Given the description of an element on the screen output the (x, y) to click on. 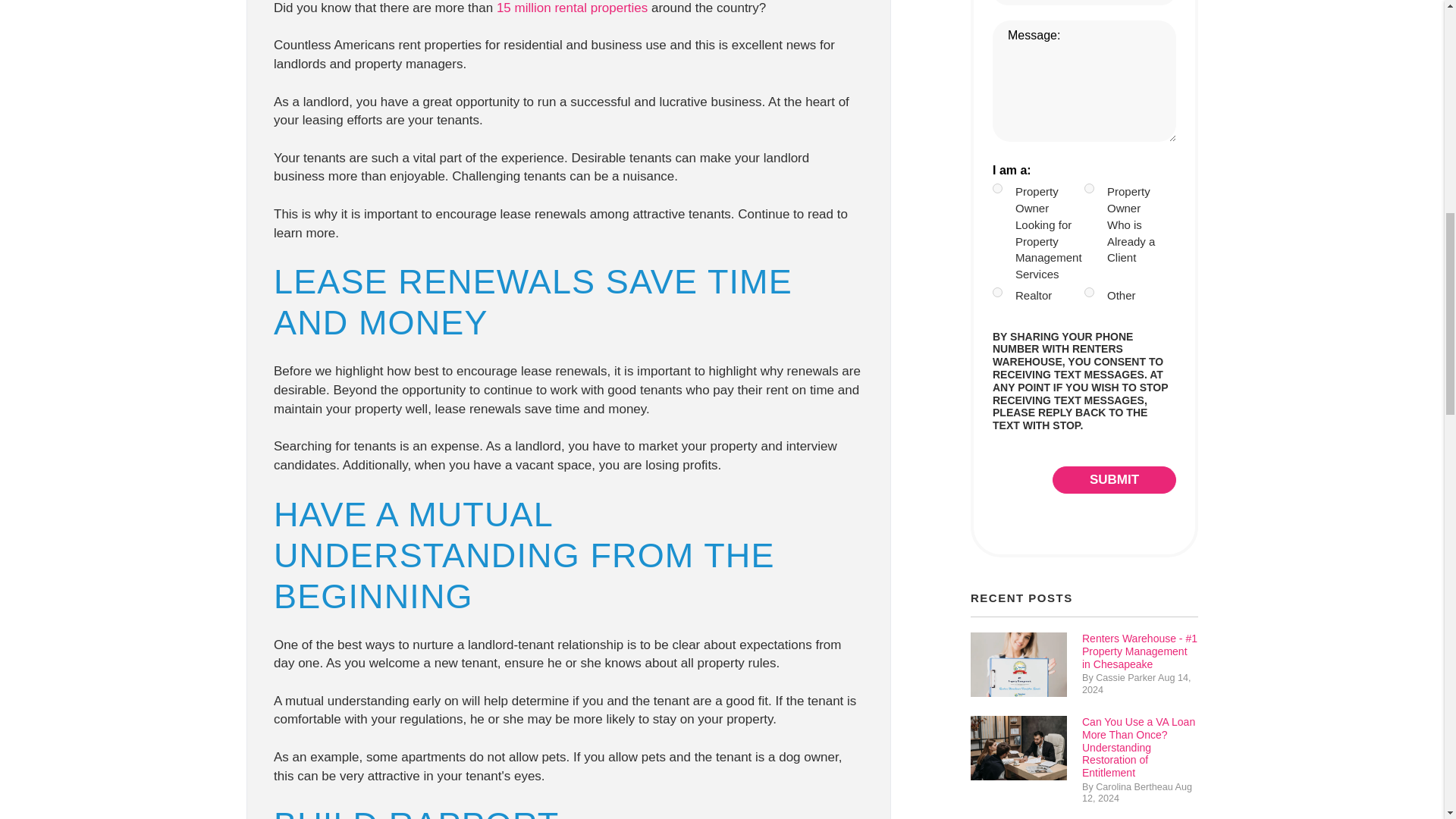
Property Owner Looking for Property Management Services (997, 188)
Other (1089, 292)
Realtor (997, 292)
Property Owner Who is Already a Client (1089, 188)
